Given the description of an element on the screen output the (x, y) to click on. 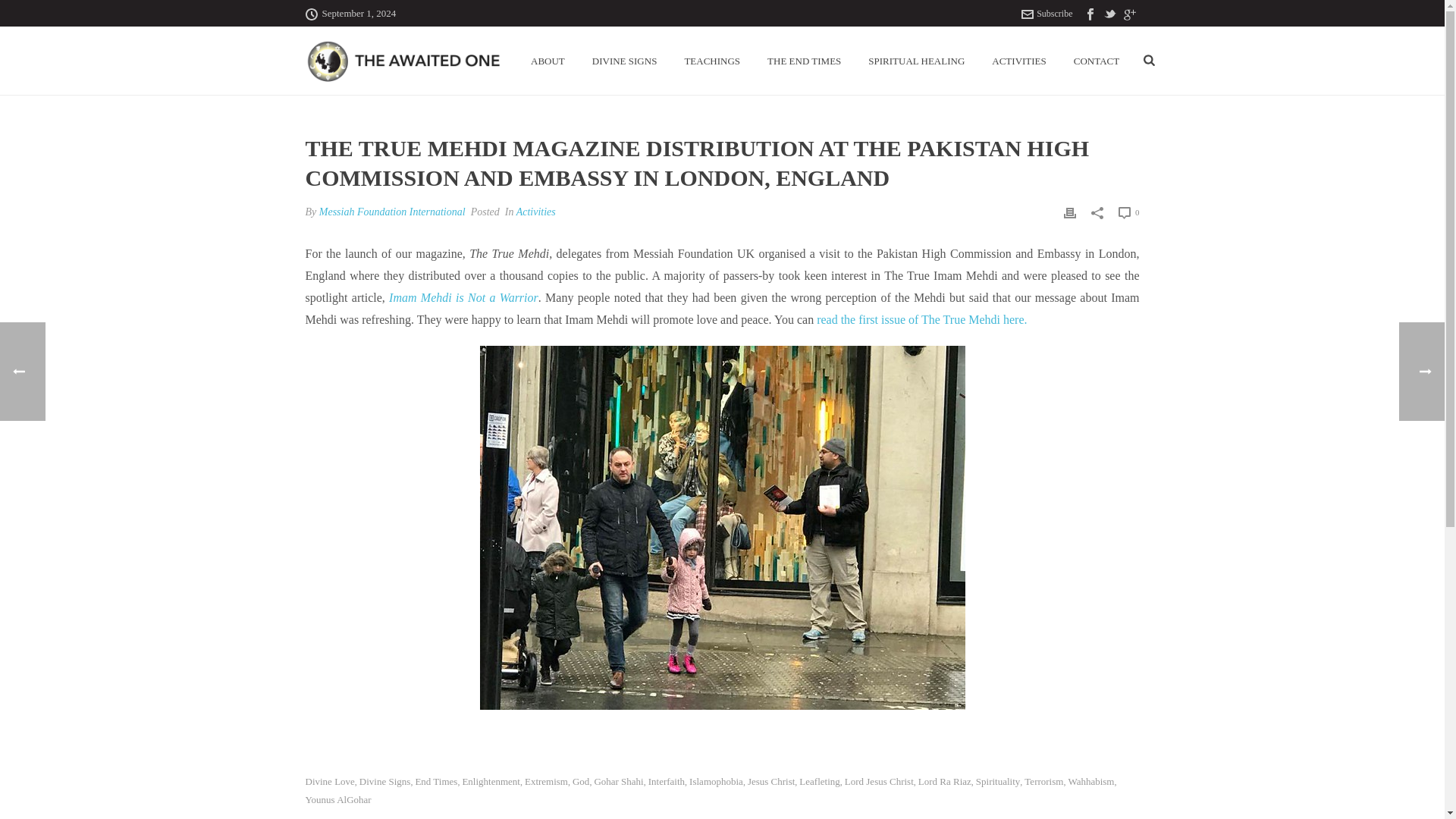
TEACHINGS (711, 61)
THE END TIMES (804, 61)
DIVINE SIGNS (624, 61)
ACTIVITIES (1018, 61)
SPIRITUAL HEALING (916, 61)
ACTIVITIES (1018, 61)
DIVINE SIGNS (624, 61)
THE END TIMES (804, 61)
ABOUT (547, 61)
